Given the description of an element on the screen output the (x, y) to click on. 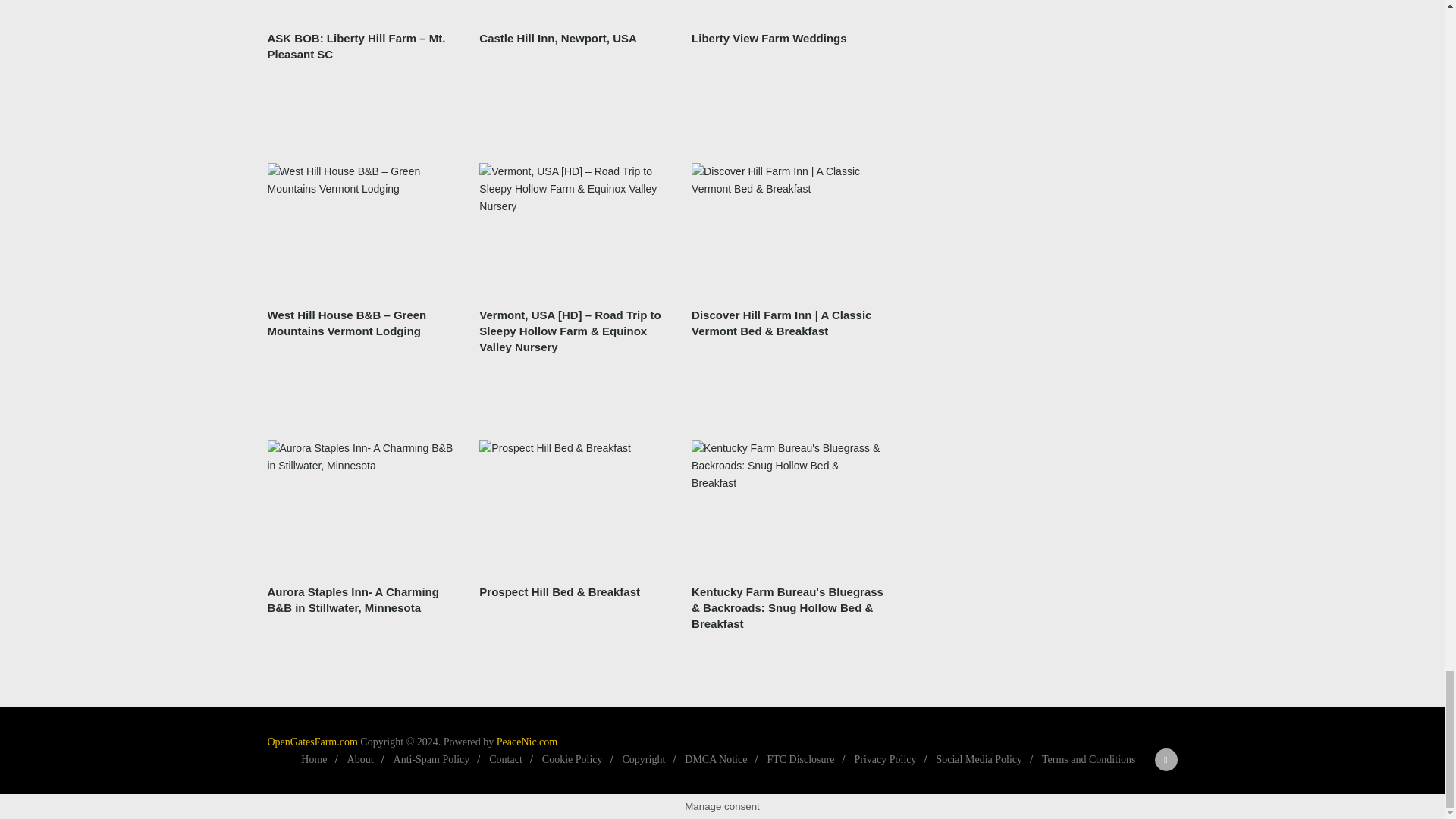
Castle Hill Inn, Newport, USA (575, 9)
Castle Hill Inn, Newport, USA (558, 37)
Liberty View Farm Weddings (769, 37)
Liberty View Farm Weddings (788, 9)
